Given the description of an element on the screen output the (x, y) to click on. 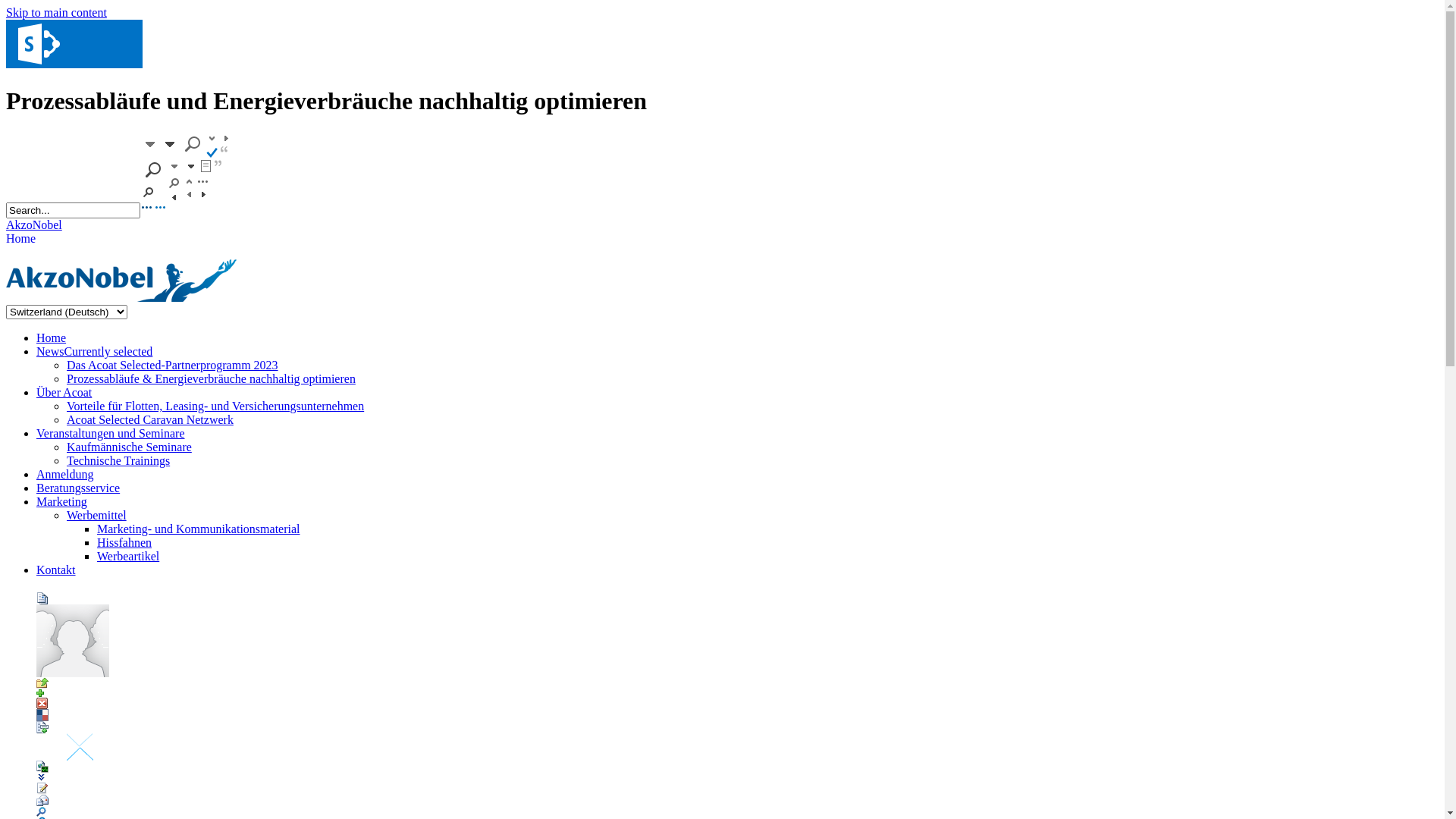
AkzoNobel Element type: text (34, 224)
Beratungsservice Element type: text (77, 487)
Veranstaltungen und Seminare Element type: text (110, 432)
Skip to main content Element type: text (56, 12)
Das Acoat Selected-Partnerprogramm 2023 Element type: text (172, 364)
Kontakt Element type: text (55, 569)
Werbemittel Element type: text (96, 514)
Werbeartikel Element type: text (128, 555)
Anmeldung Element type: text (65, 473)
Acoat Selected Caravan Netzwerk Element type: text (149, 419)
Technische Trainings Element type: text (117, 460)
News Element type: hover (74, 63)
Marketing Element type: text (61, 501)
Marketing- und Kommunikationsmaterial Element type: text (198, 528)
Hissfahnen Element type: text (124, 542)
Home Element type: text (50, 337)
Search... Element type: hover (73, 210)
NewsCurrently selected Element type: text (94, 351)
Search Element type: hover (186, 209)
Home Element type: text (20, 238)
